Given the description of an element on the screen output the (x, y) to click on. 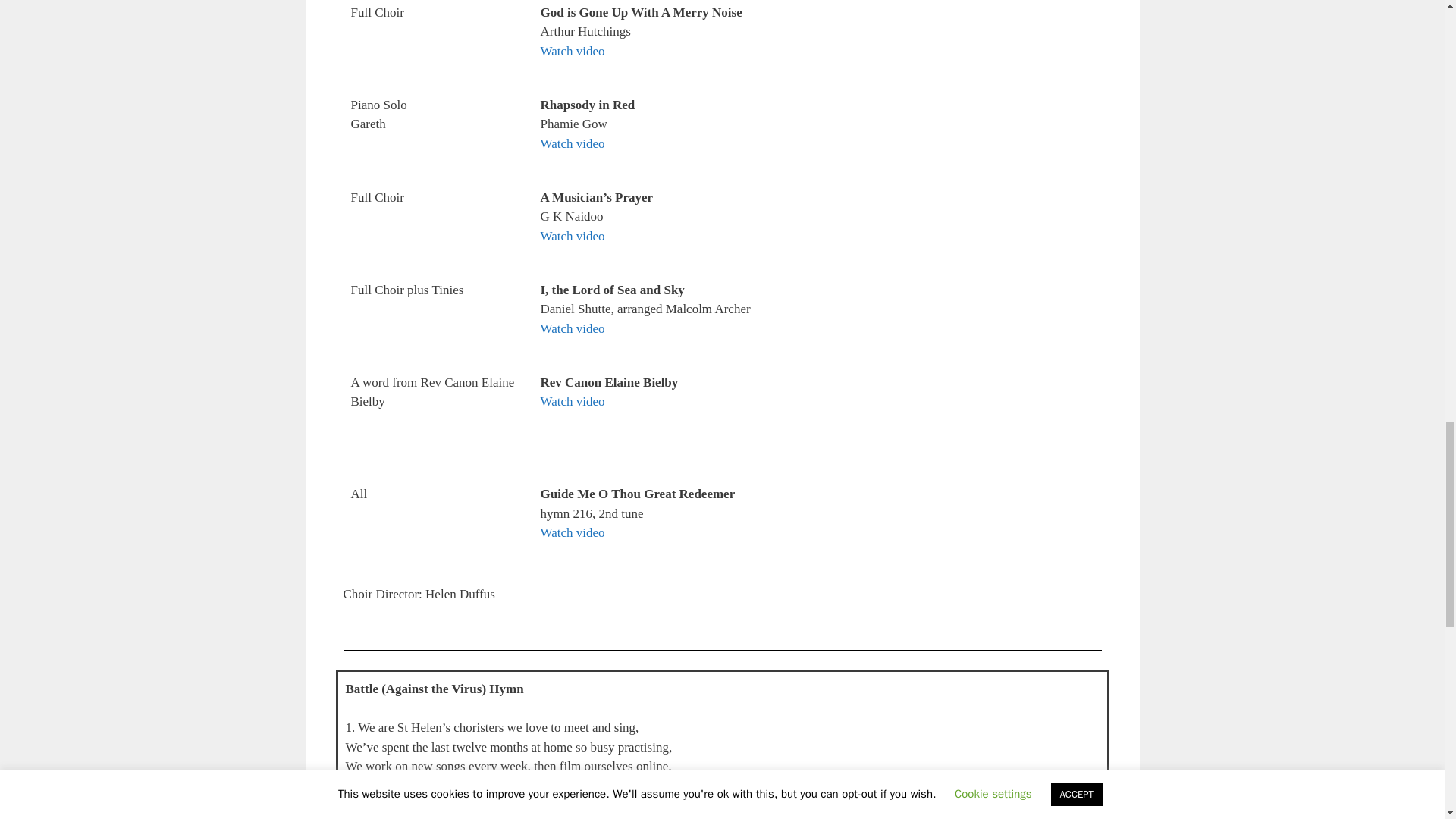
Watch video (572, 51)
